Given the description of an element on the screen output the (x, y) to click on. 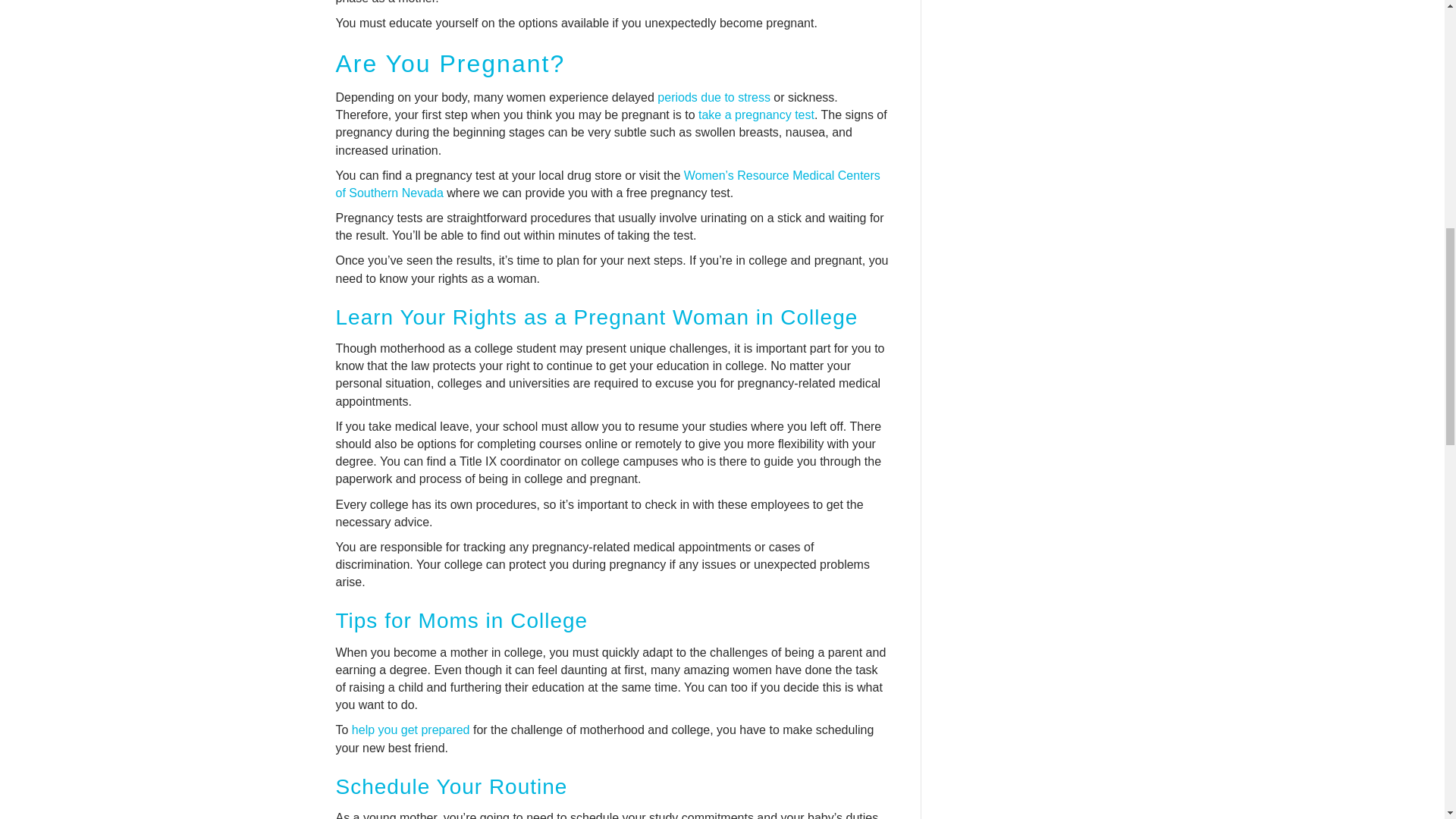
help you get prepared (411, 729)
periods due to stress (714, 97)
take a pregnancy test (755, 114)
